Given the description of an element on the screen output the (x, y) to click on. 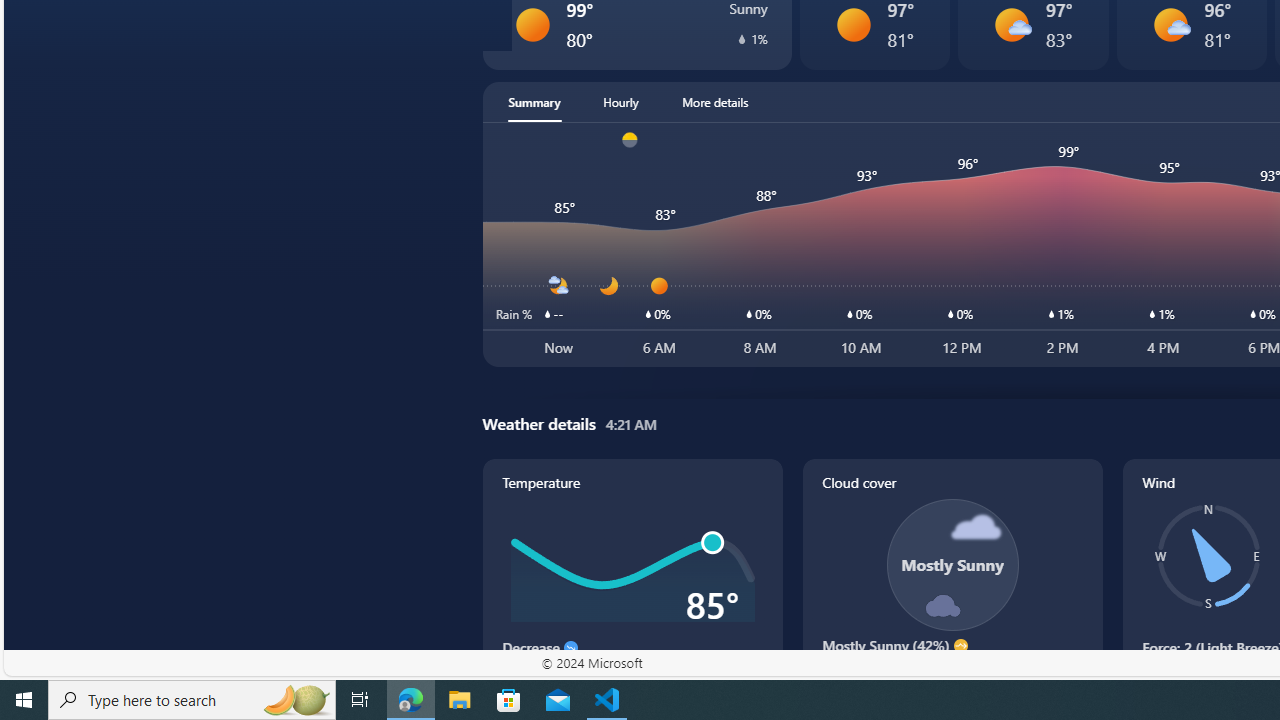
Steady with mostly sunny sky at 4:21 AM. (951, 674)
Mostly sunny (1169, 24)
Decrease (570, 647)
Precipitation (742, 38)
More details (715, 101)
Cloud cover (952, 584)
Temperature (632, 584)
Back to top (41, 26)
Sunny (853, 24)
Summary (534, 101)
Hourly (620, 101)
